Given the description of an element on the screen output the (x, y) to click on. 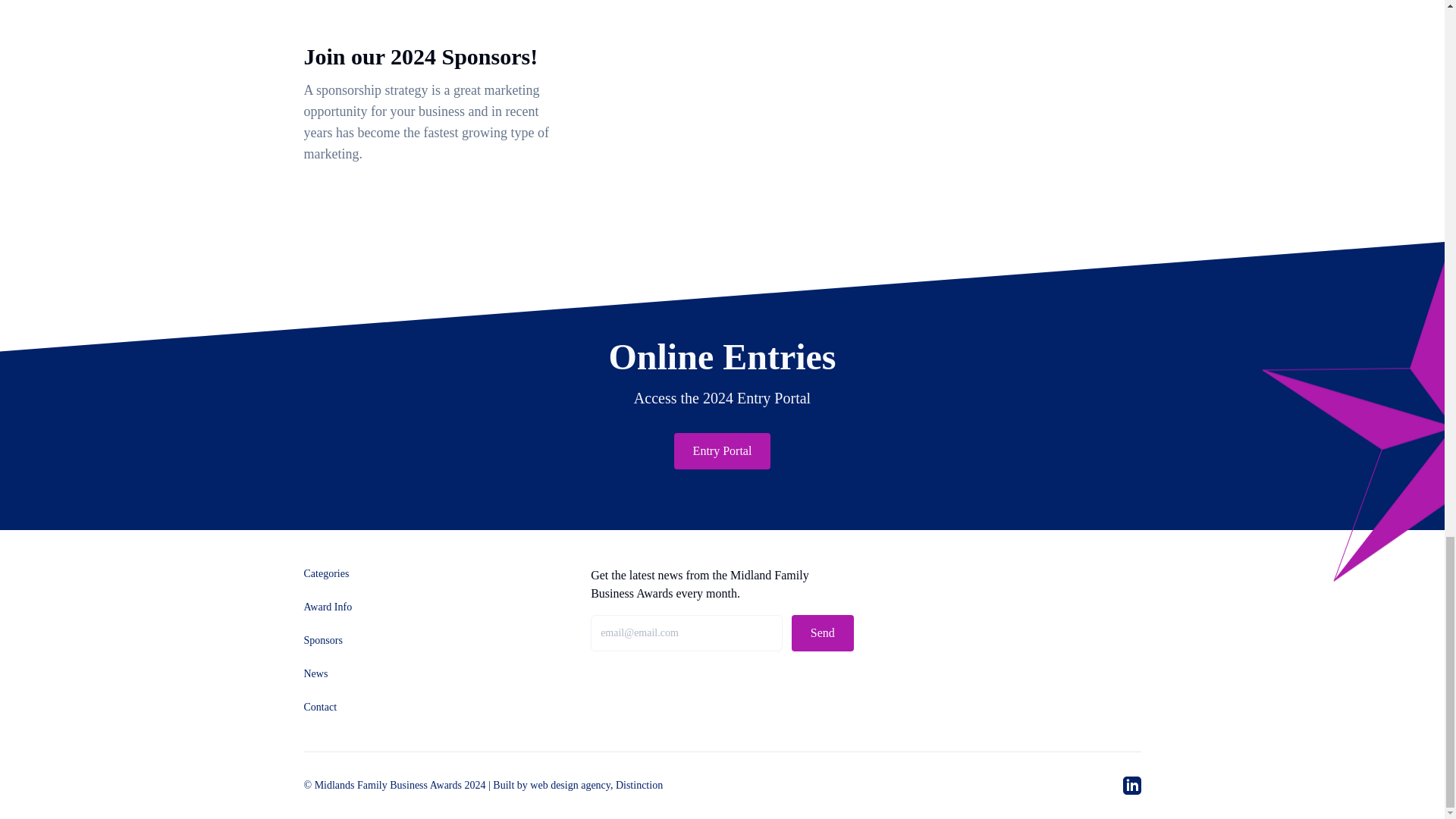
Send (822, 633)
Entry Portal (722, 451)
Built by web design agency (551, 785)
News (314, 673)
Award Info (327, 606)
Sponsors (322, 640)
Contact (319, 706)
Categories (325, 573)
